Given the description of an element on the screen output the (x, y) to click on. 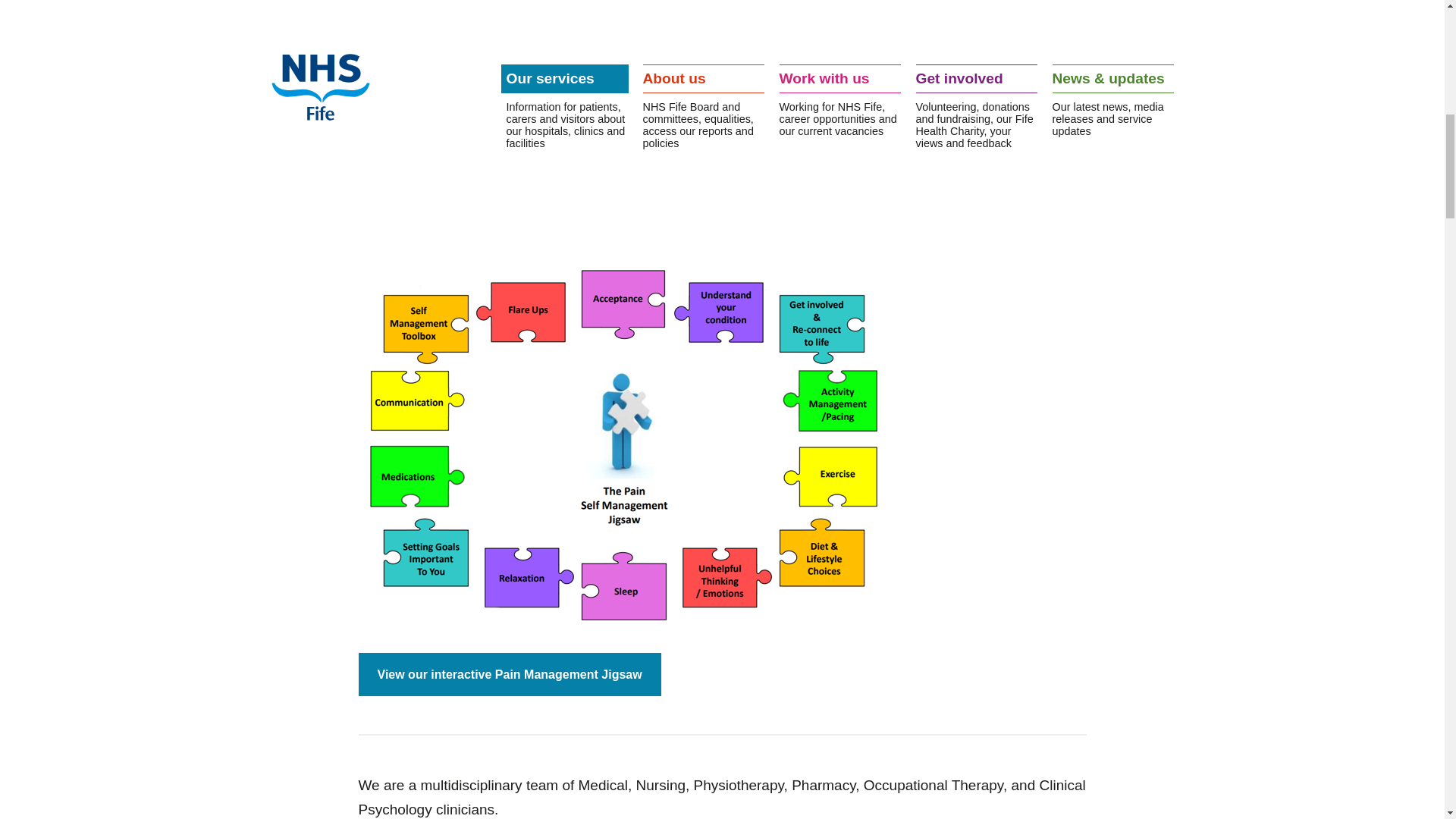
Pain Jigsaw Interactive3 (513, 673)
View our interactive Pain Management Jigsaw (513, 673)
